Given the description of an element on the screen output the (x, y) to click on. 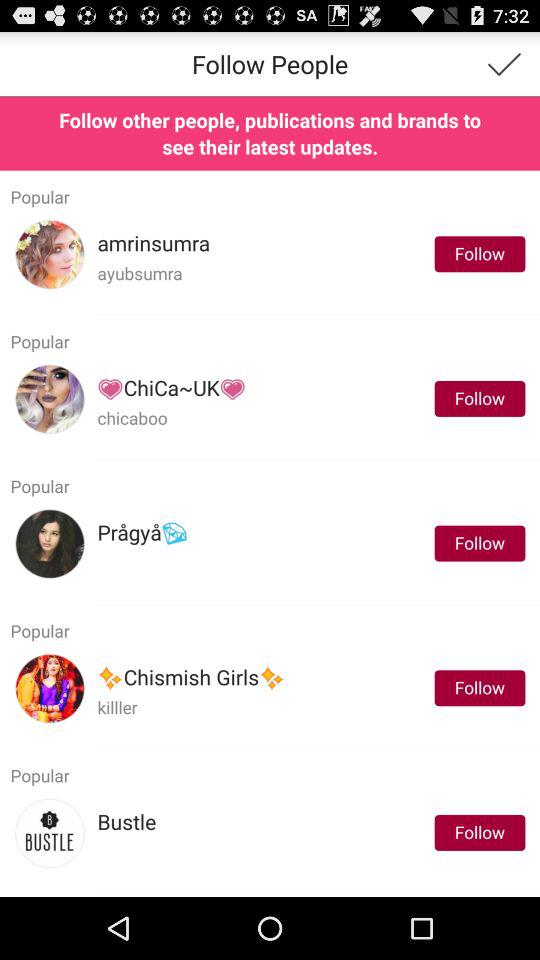
flip to the bustle (126, 822)
